Given the description of an element on the screen output the (x, y) to click on. 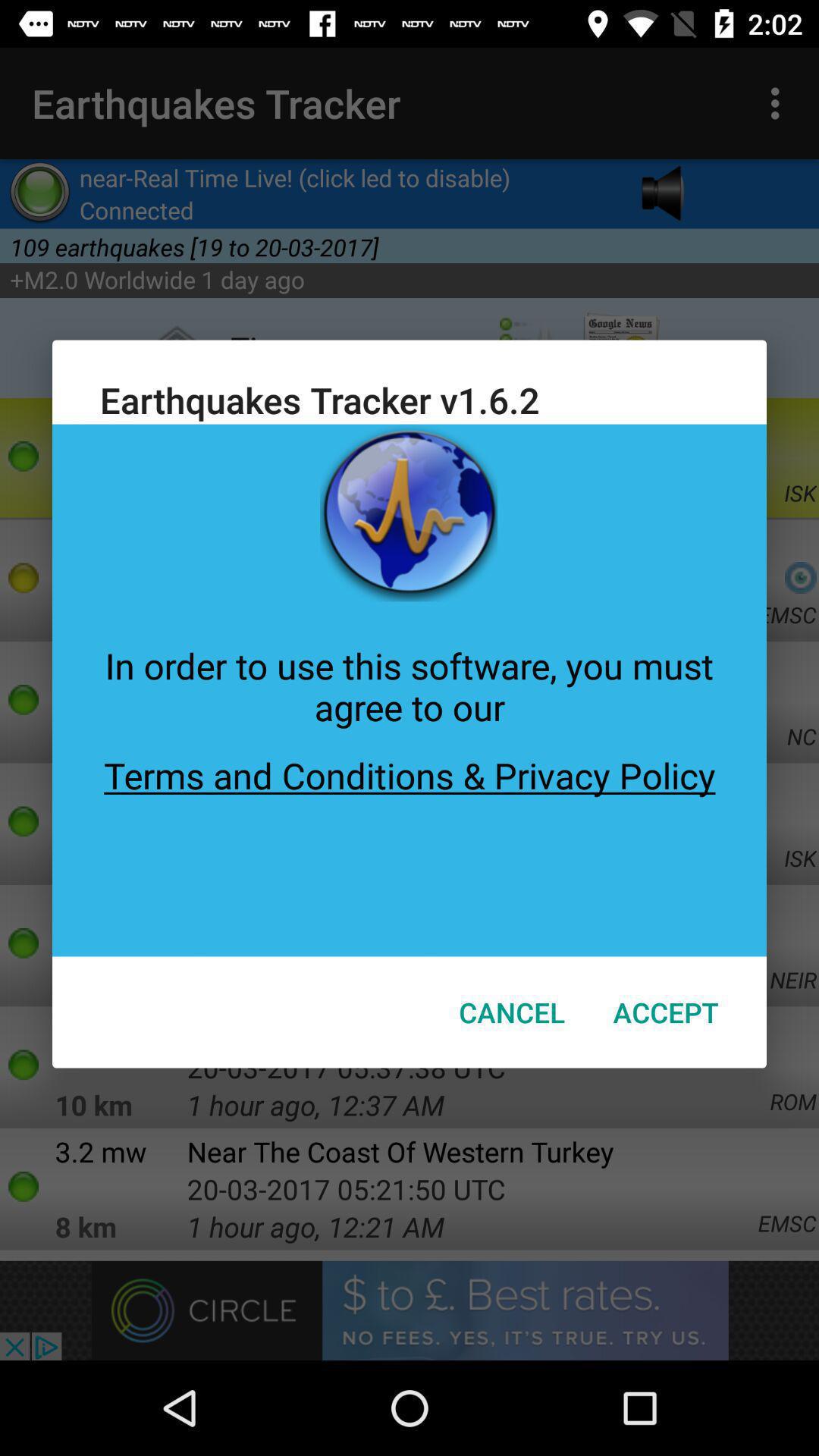
choose icon at the bottom (512, 1012)
